Given the description of an element on the screen output the (x, y) to click on. 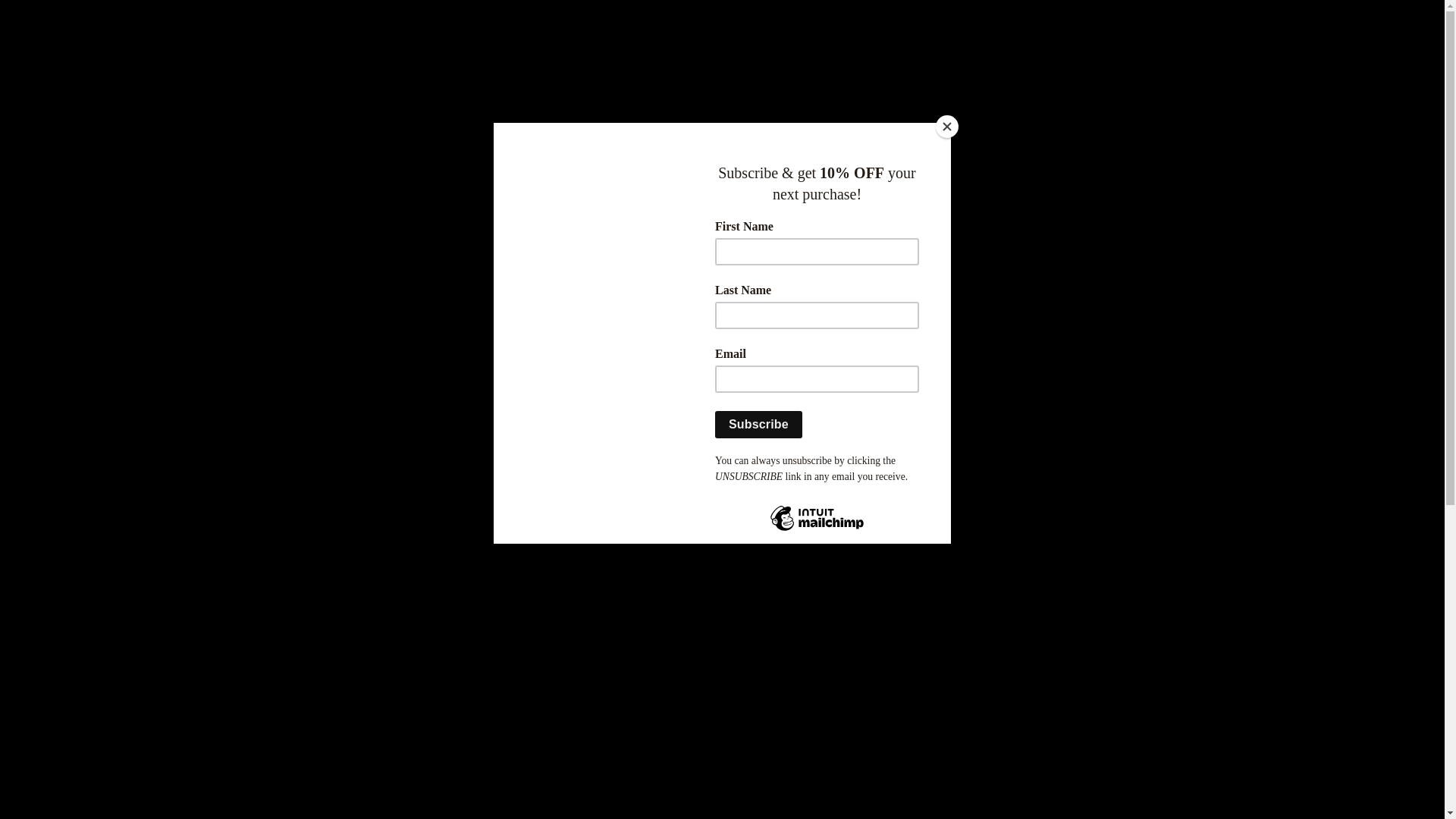
SALE Element type: text (486, 314)
PERMANENT JEWELRY Element type: text (624, 314)
NEW Element type: text (410, 314)
ABOUT Element type: text (909, 314)
CATEGORIES Element type: text (790, 314)
(0) Element type: text (1054, 69)
OUR BLOG Element type: text (1015, 314)
Login Element type: text (702, 69)
Add to Cart Element type: text (891, 514)
Sign up Element type: text (734, 69)
